Given the description of an element on the screen output the (x, y) to click on. 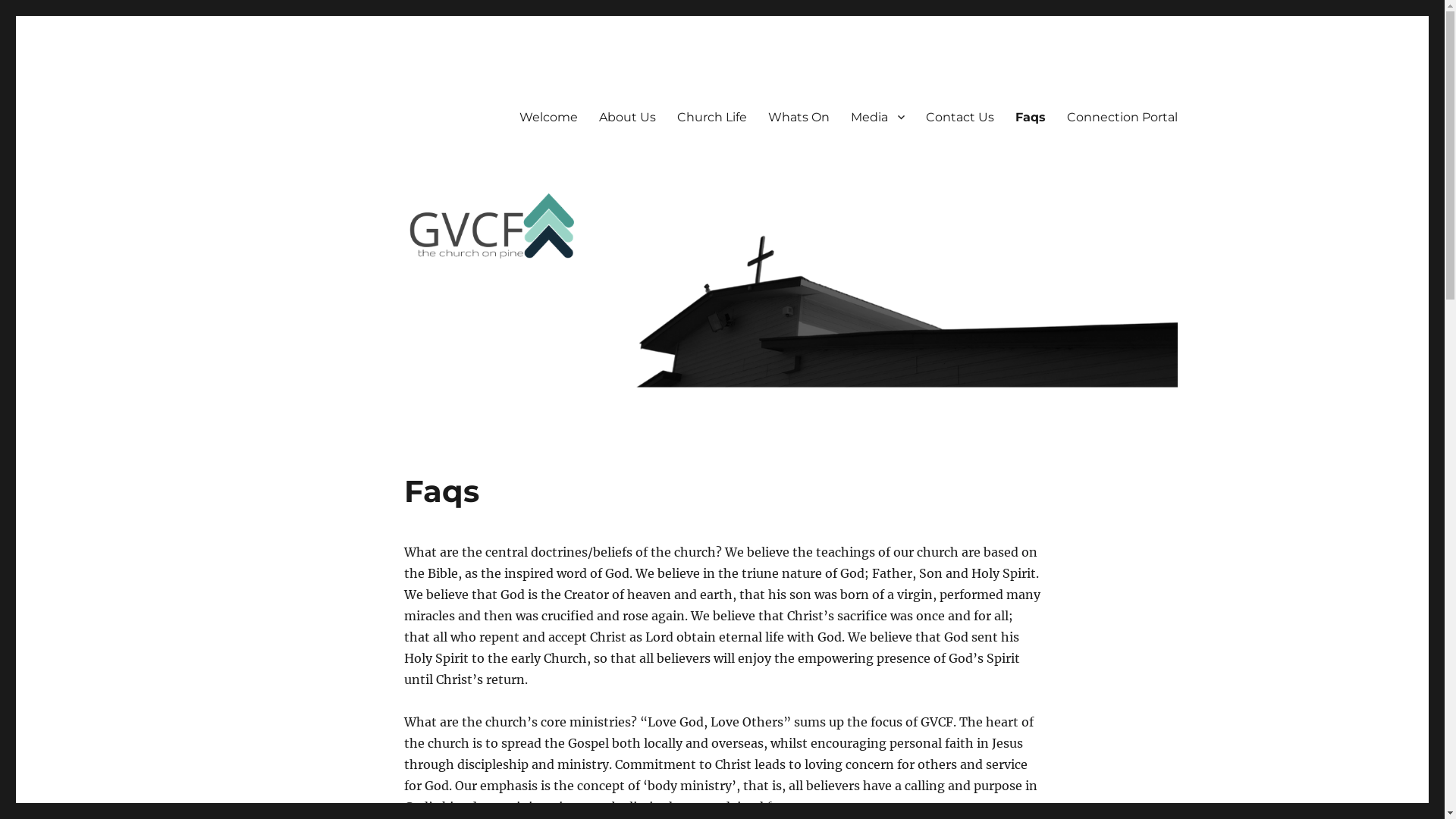
Church Life Element type: text (710, 116)
Media Element type: text (877, 116)
About Us Element type: text (627, 116)
GVCF Element type: text (297, 92)
Welcome Element type: text (547, 116)
Faqs Element type: text (1029, 116)
Contact Us Element type: text (959, 116)
Connection Portal Element type: text (1121, 116)
Whats On Element type: text (797, 116)
